Given the description of an element on the screen output the (x, y) to click on. 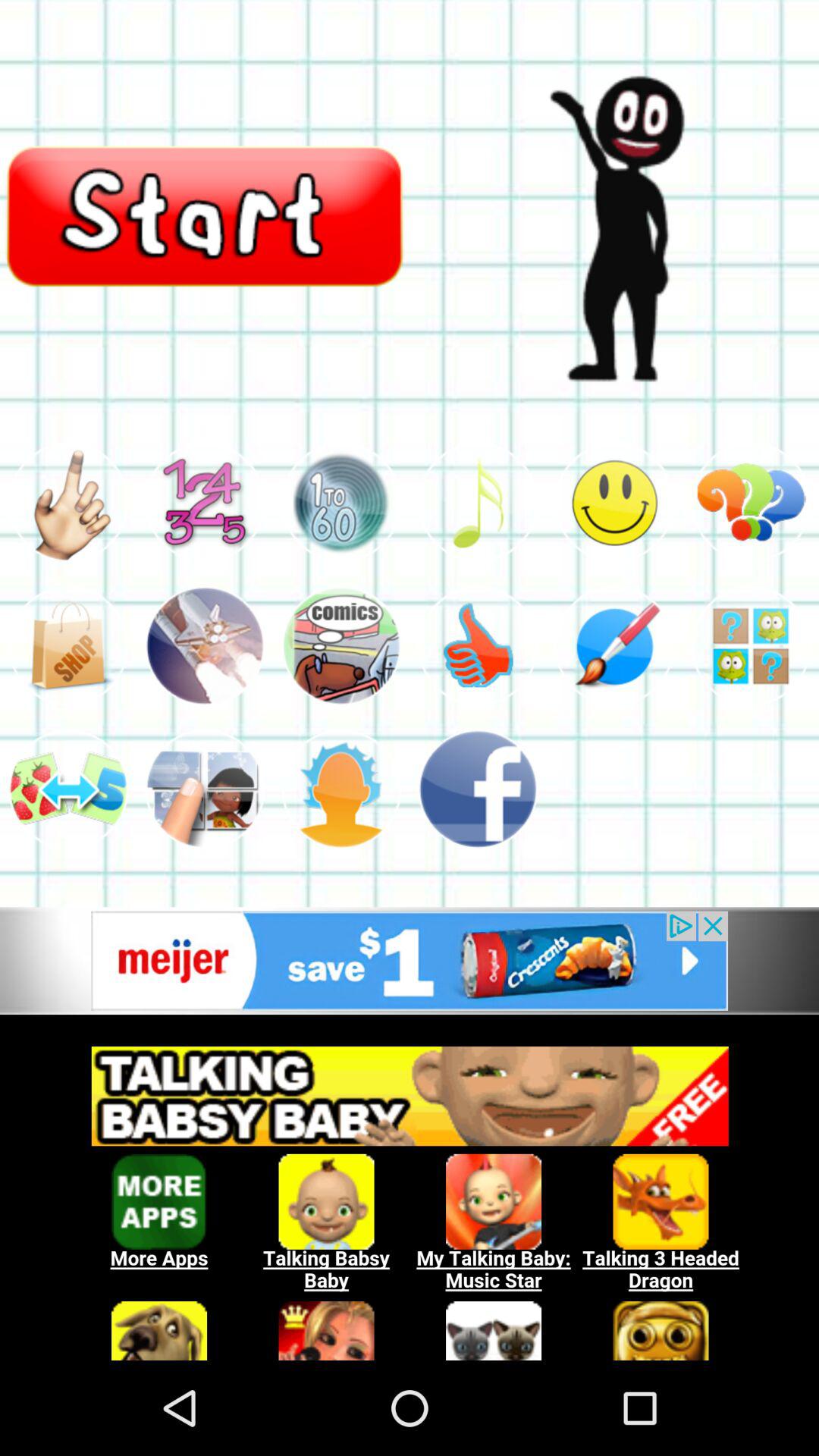
game to draw (614, 645)
